Given the description of an element on the screen output the (x, y) to click on. 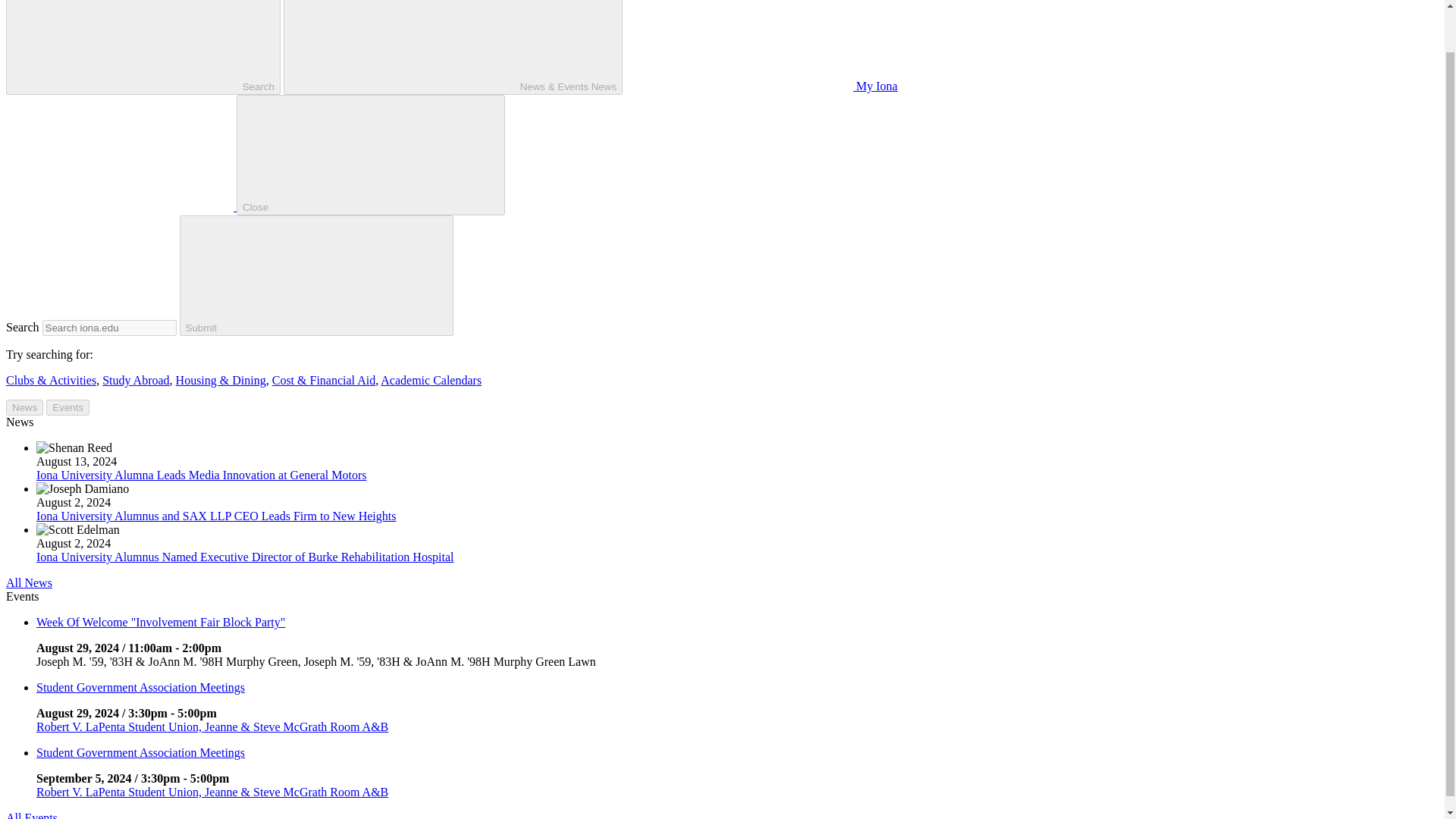
Search (143, 47)
Student Government Association Meetings (140, 686)
Iona University (118, 153)
Week Of Welcome "Involvement Fair Block Party" (160, 621)
My Iona (762, 85)
Study Abroad (134, 379)
Academic Calendars (430, 379)
Iona University (120, 205)
